Given the description of an element on the screen output the (x, y) to click on. 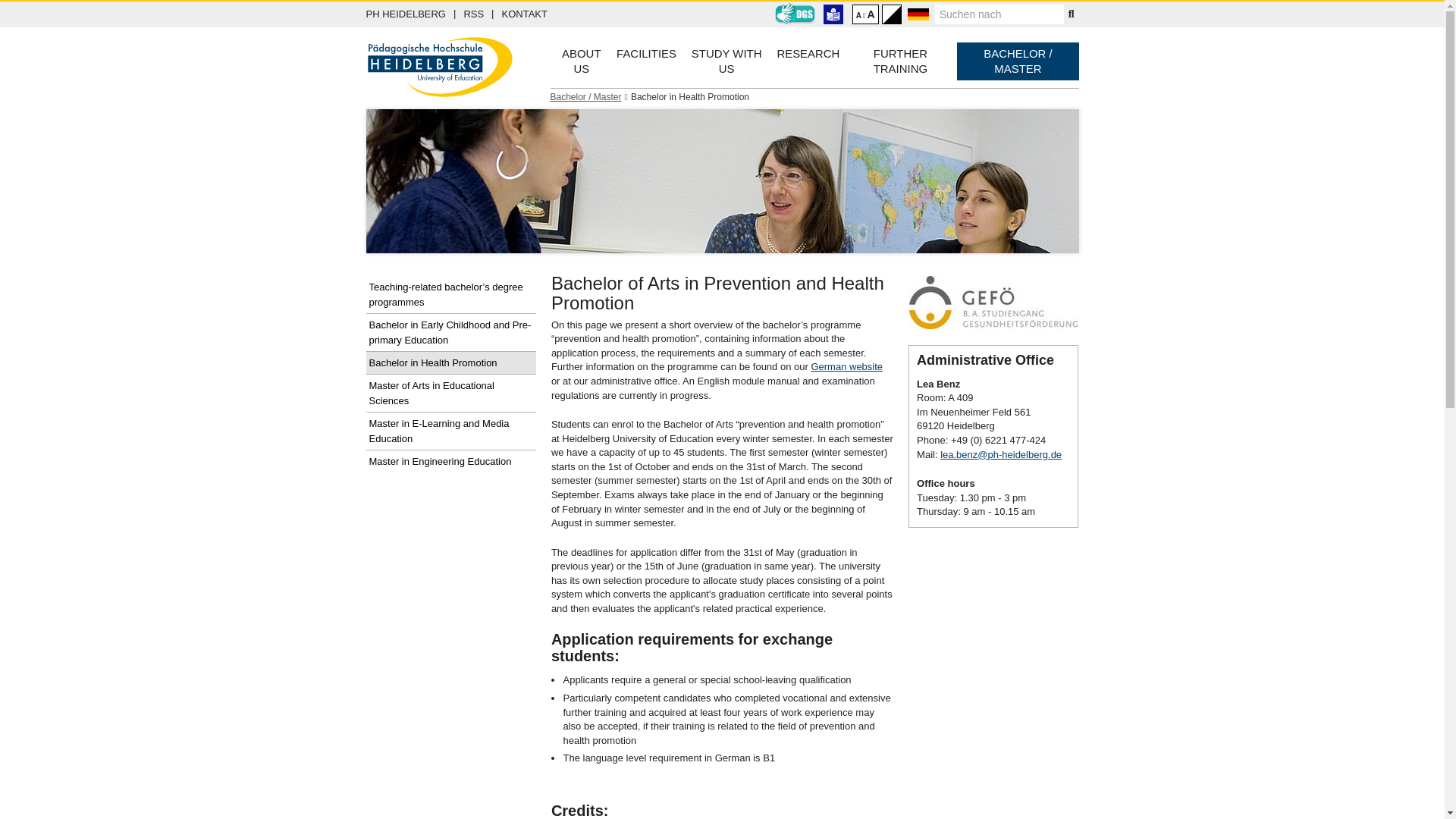
Suche starten (1071, 13)
Switch between normal and high contrast (891, 14)
STUDY WITH US (726, 61)
DEUTSCH (865, 14)
RSS (917, 14)
PH HEIDELBERG (473, 14)
FACILITIES (408, 14)
Suche starten (645, 53)
KONTAKT (1071, 13)
